Given the description of an element on the screen output the (x, y) to click on. 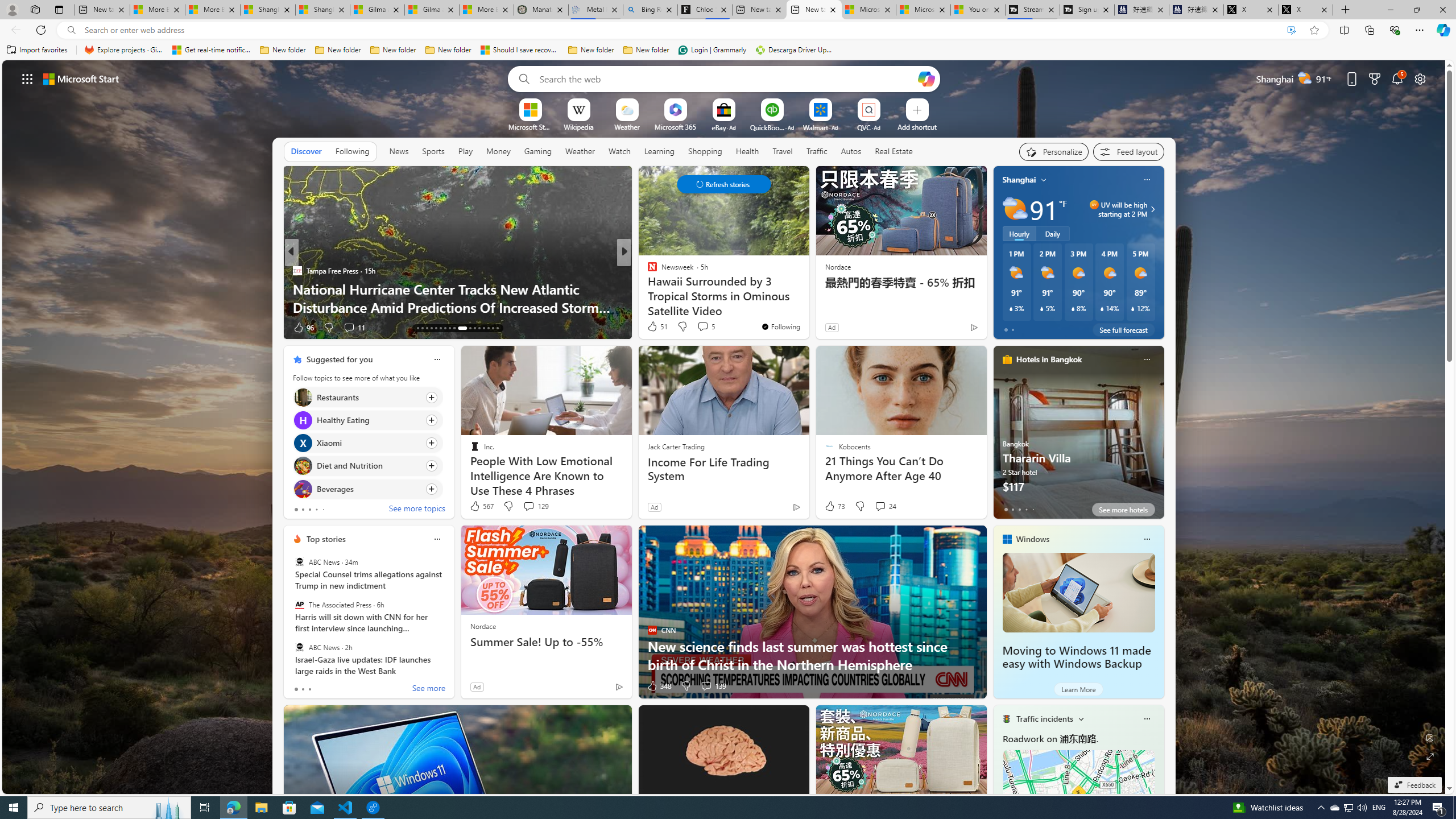
AutomationID: tab-30 (483, 328)
567 Like (480, 505)
AutomationID: tab-19 (426, 328)
tab-1 (302, 689)
8 Like (651, 327)
AutomationID: tab-20 (431, 328)
Click to follow topic Xiaomi (367, 442)
Fox Weather (647, 270)
